Given the description of an element on the screen output the (x, y) to click on. 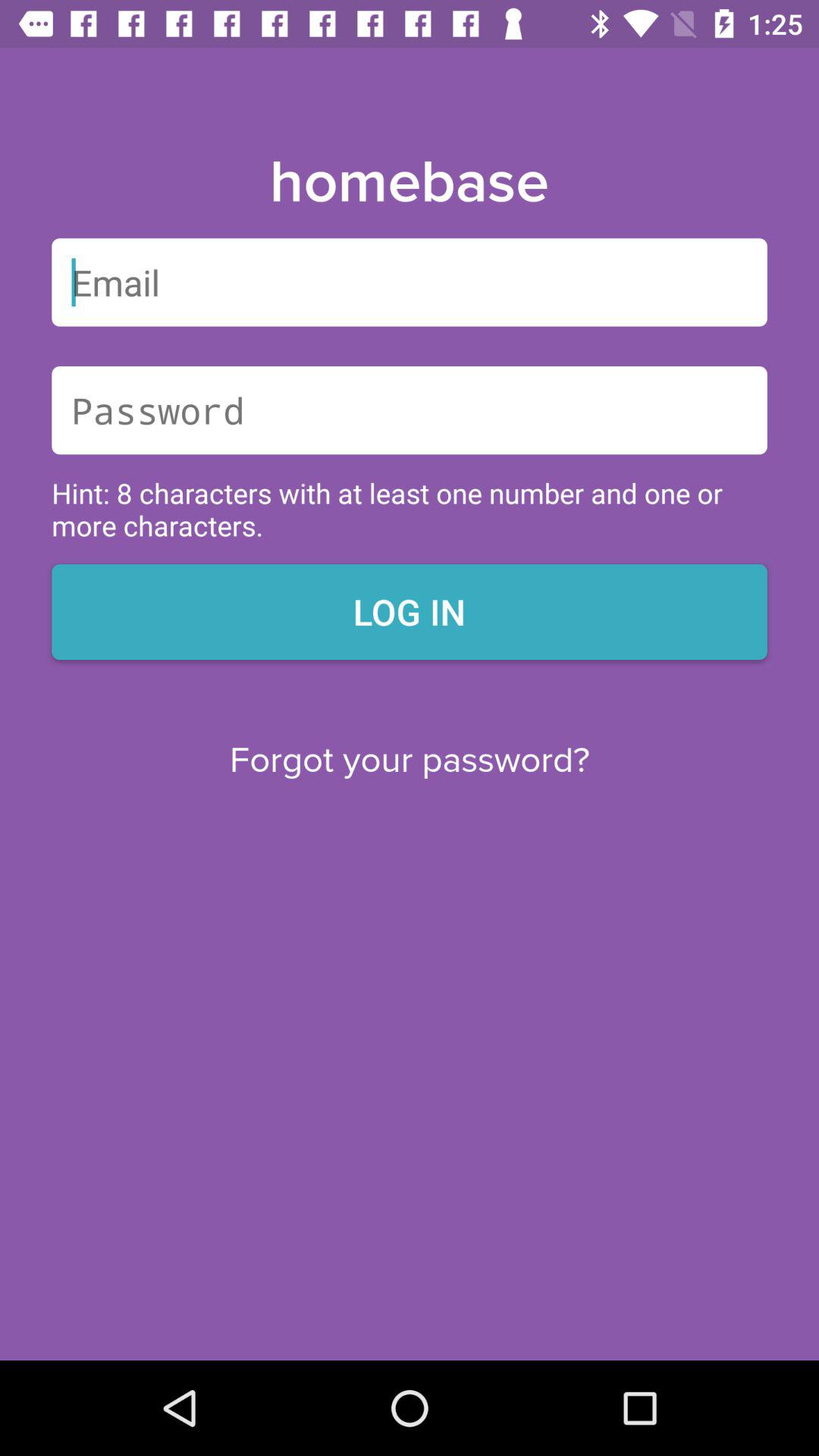
scroll until the homebase (408, 182)
